Given the description of an element on the screen output the (x, y) to click on. 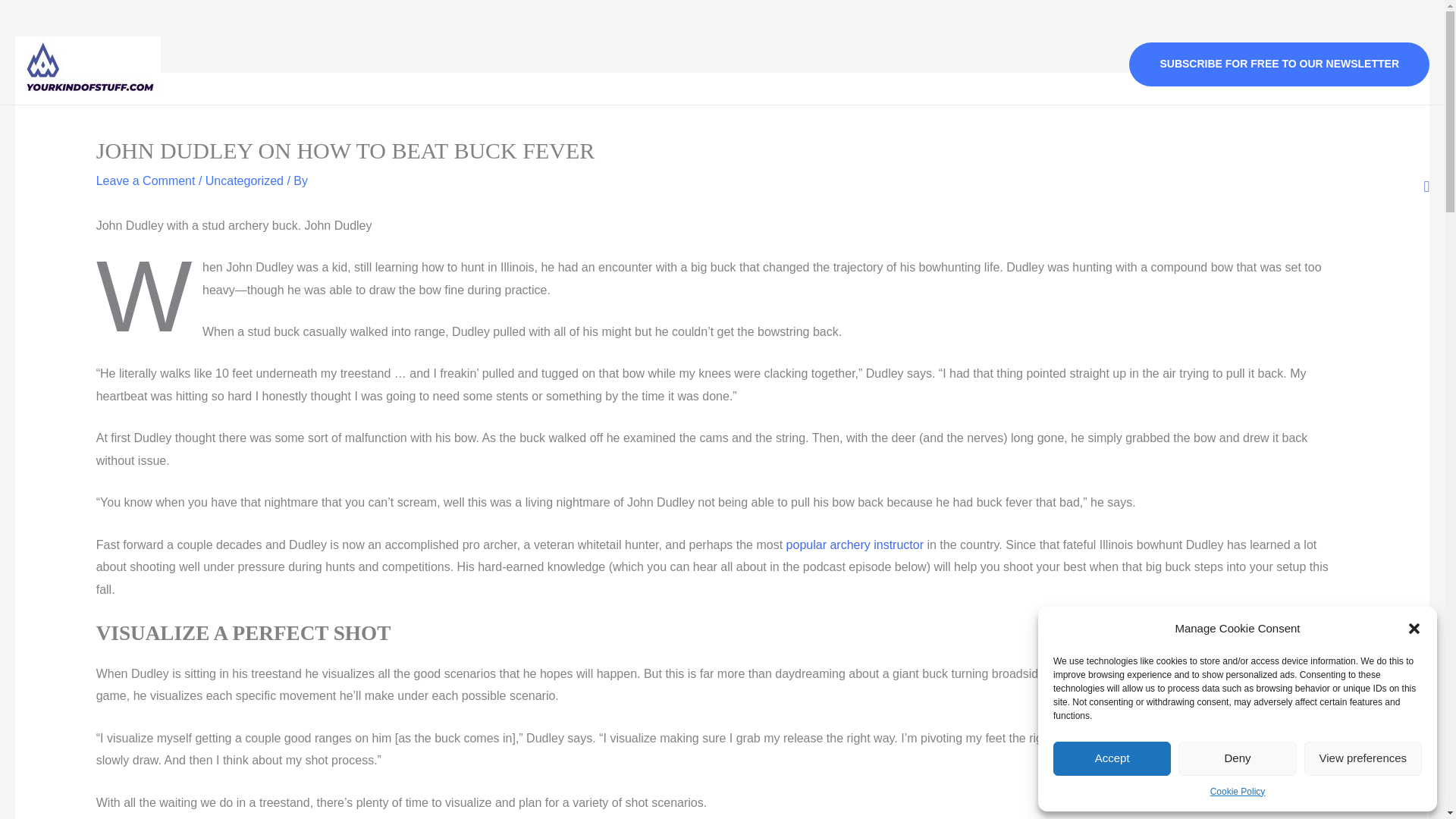
View preferences (1363, 758)
Deny (1236, 758)
Accept (1111, 758)
Cookie Policy (1237, 791)
Leave a Comment (145, 180)
SUBSCRIBE FOR FREE TO OUR NEWSLETTER (1279, 64)
Uncategorized (244, 180)
